Given the description of an element on the screen output the (x, y) to click on. 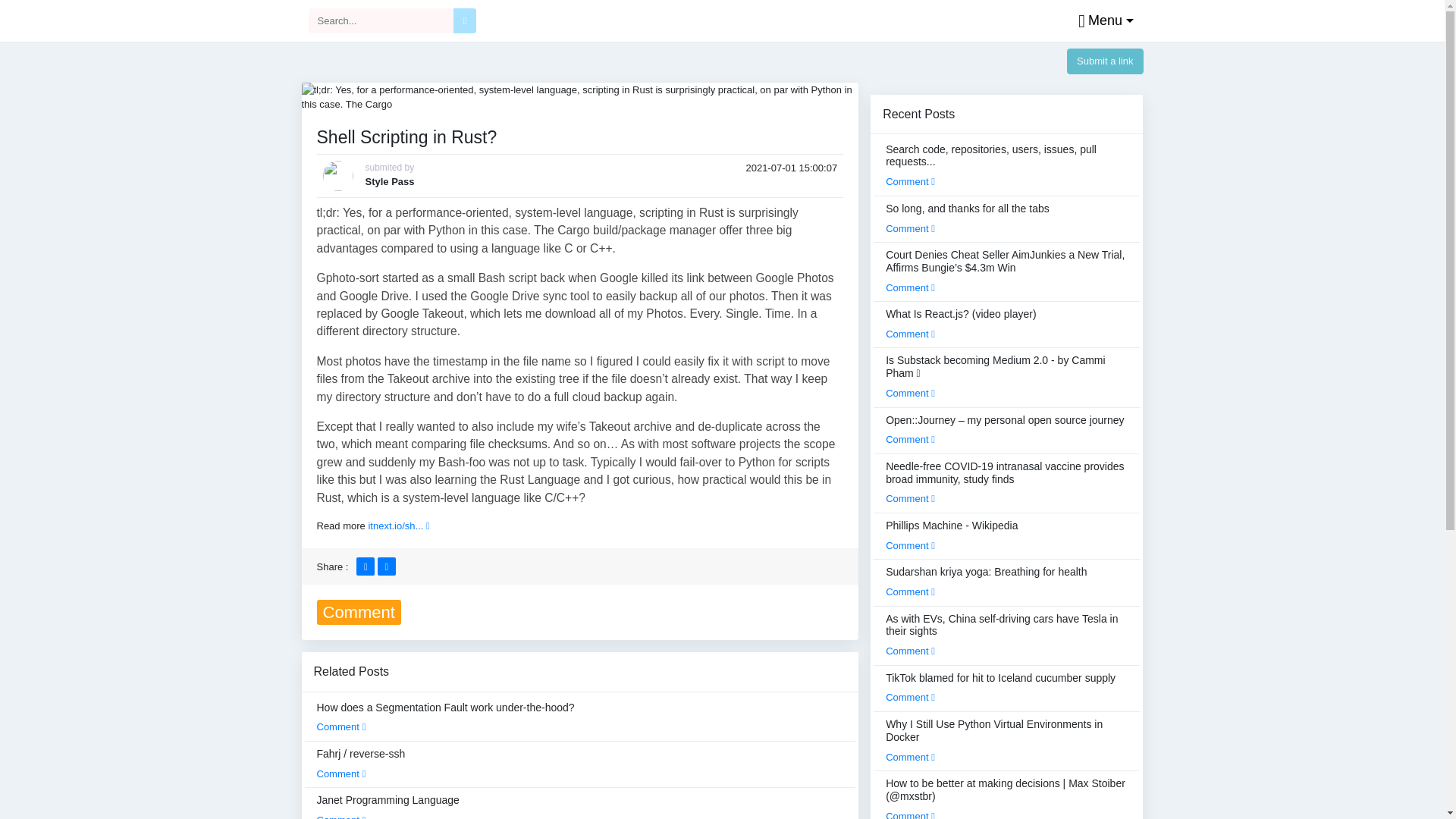
Comment (341, 773)
How does a Segmentation Fault work under-the-hood? (446, 717)
Submit a link (1104, 61)
Comment (341, 816)
Comment (341, 726)
Menu (1101, 20)
Janet Programming Language (388, 806)
Shell Scripting in Rust? (580, 96)
